Given the description of an element on the screen output the (x, y) to click on. 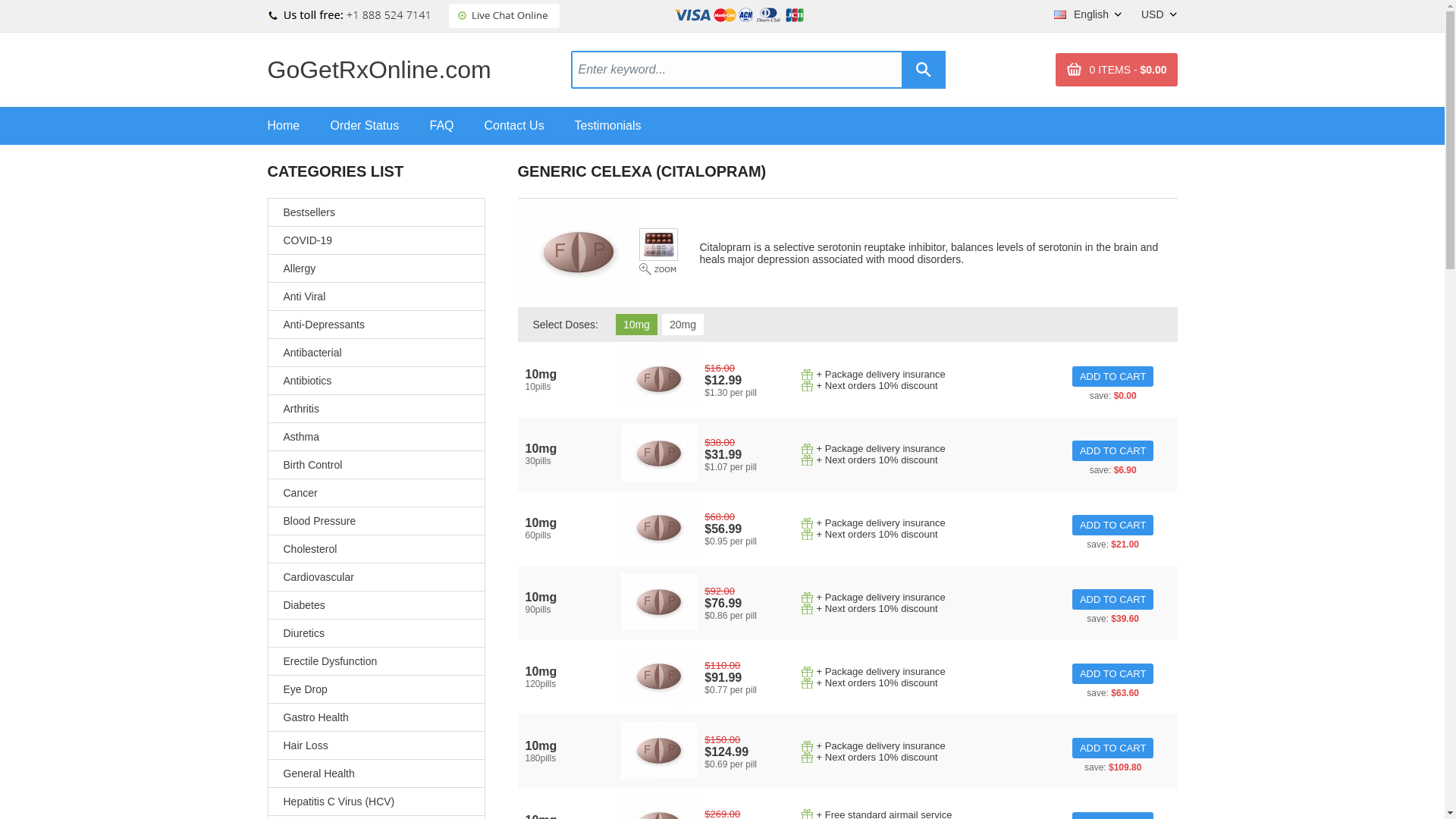
GoGetRxOnline.com (378, 69)
Celexa (659, 675)
Celexa (659, 601)
Celexa (659, 453)
Celexa (659, 749)
Enter keyword... (739, 68)
Celexa (659, 378)
Celexa (577, 251)
Celexa (659, 527)
